Given the description of an element on the screen output the (x, y) to click on. 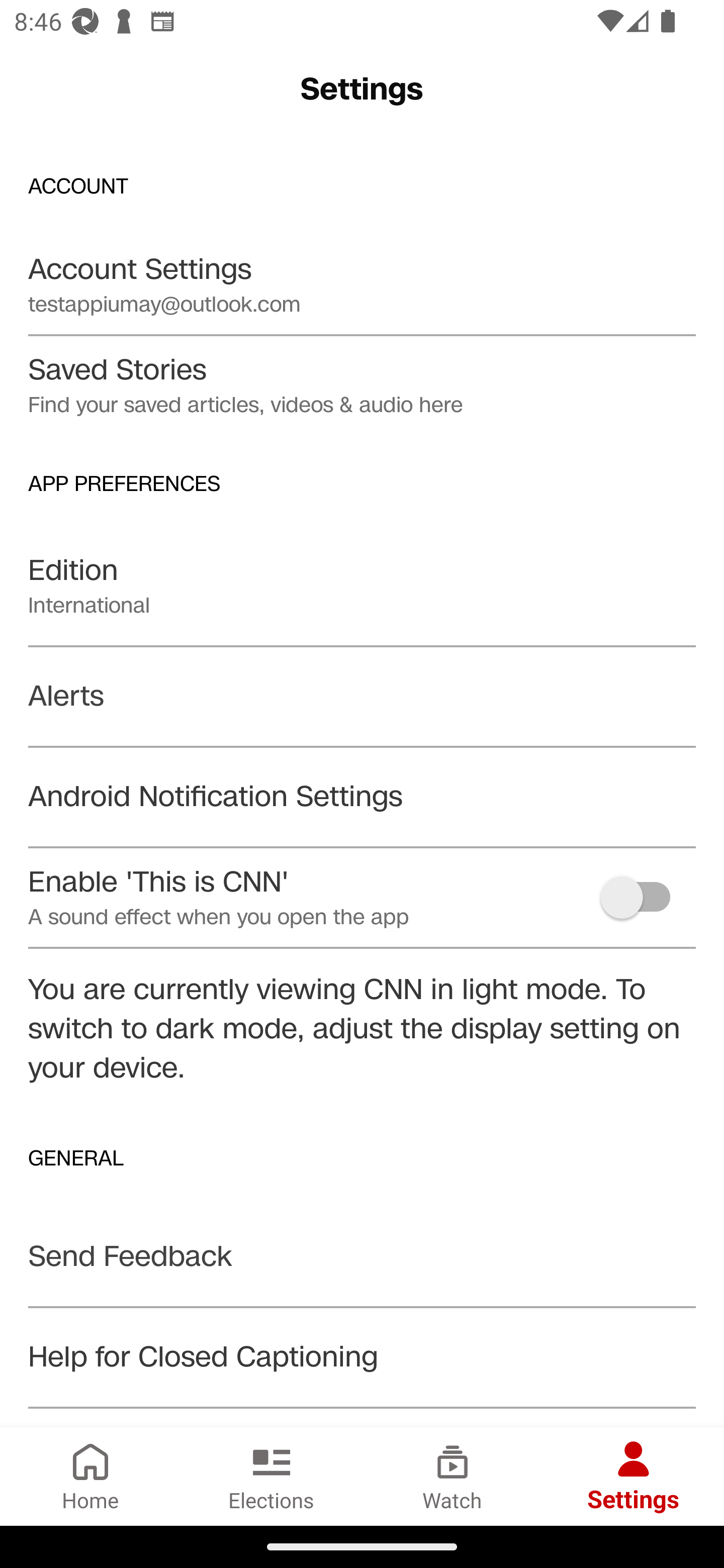
Account Settings testappiumay@outlook.com (361, 284)
Edition International (361, 585)
Alerts (361, 696)
Android Notification Settings (361, 796)
Send Feedback (361, 1256)
Help for Closed Captioning (361, 1356)
Home (90, 1475)
Elections (271, 1475)
Watch (452, 1475)
